Given the description of an element on the screen output the (x, y) to click on. 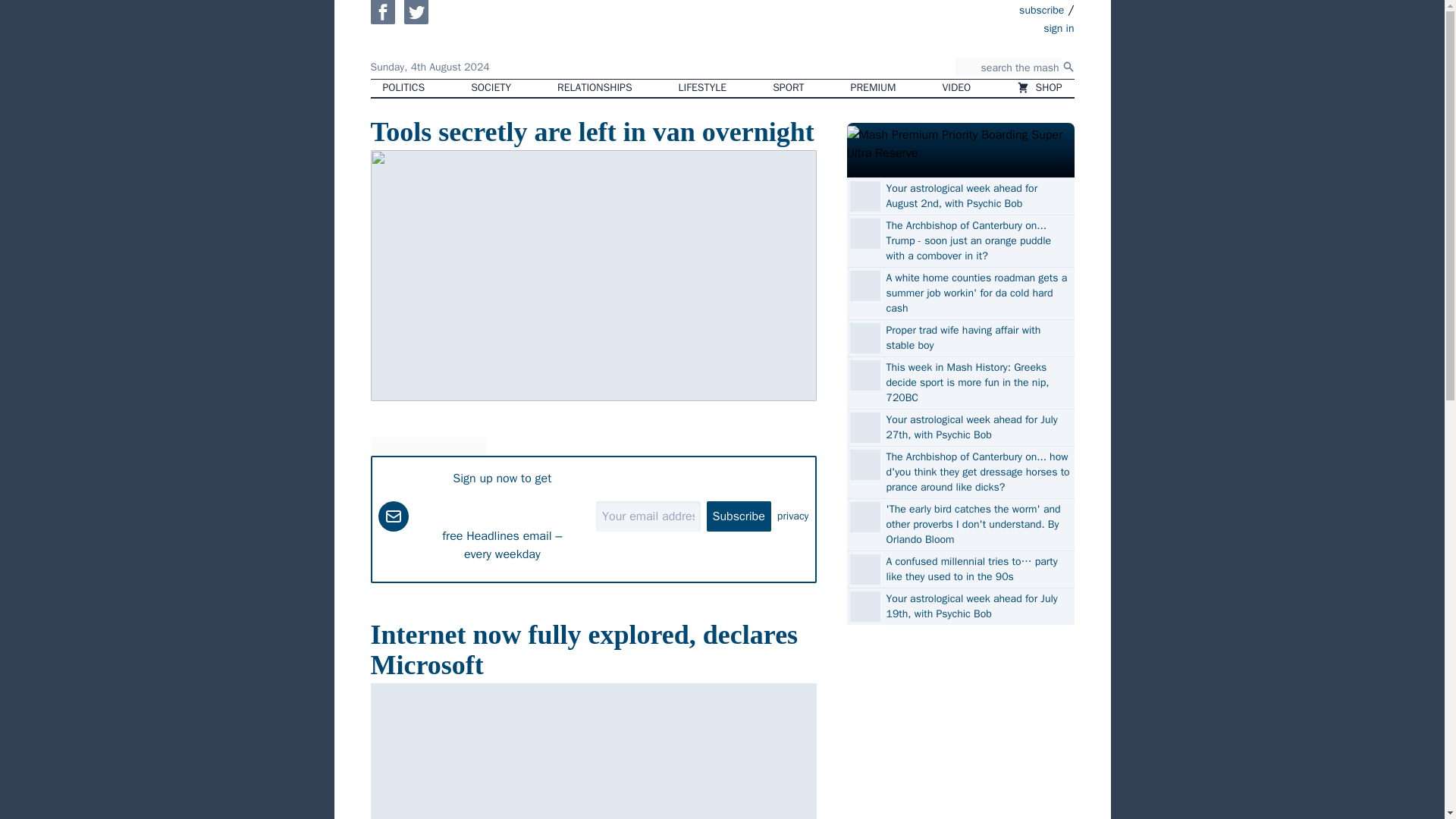
privacy (793, 515)
sign in (970, 27)
Proper trad wife having affair with stable boy (977, 337)
RELATIONSHIPS (593, 88)
VIDEO (957, 88)
SOCIETY (490, 88)
Your astrological week ahead for July 27th, with Psychic Bob (977, 427)
POLITICS (402, 88)
Subscribe (738, 515)
PREMIUM (873, 88)
LIFESTYLE (702, 88)
